Given the description of an element on the screen output the (x, y) to click on. 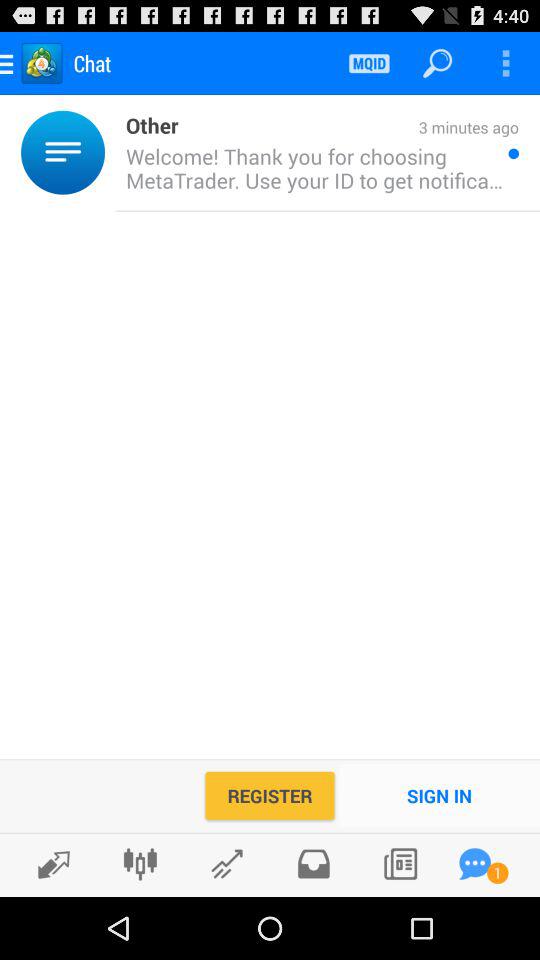
go to message box (475, 864)
